Given the description of an element on the screen output the (x, y) to click on. 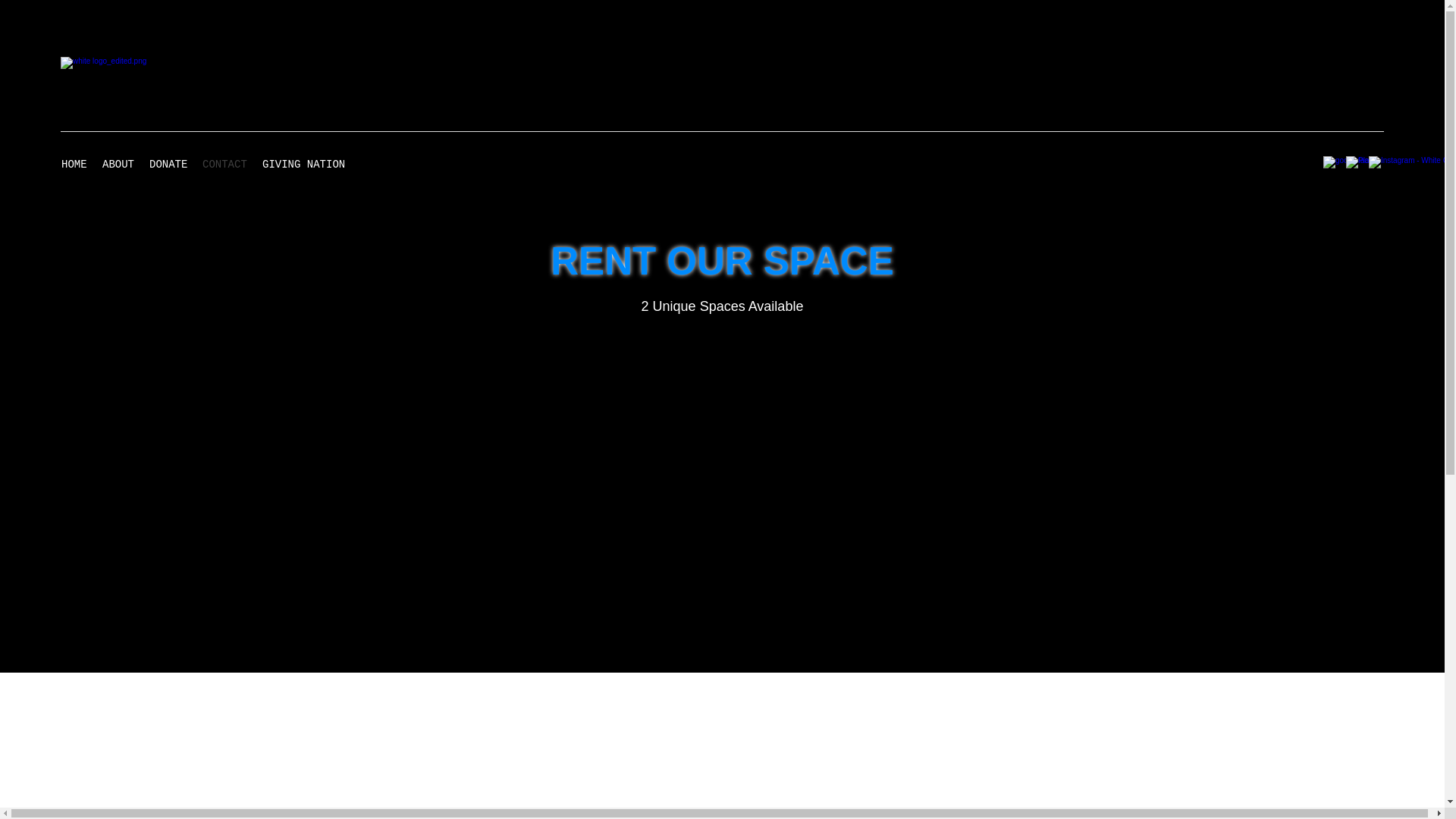
HOME (73, 164)
CONTACT (224, 164)
ABOUT (117, 164)
GIVING NATION (303, 164)
DONATE (168, 164)
